Given the description of an element on the screen output the (x, y) to click on. 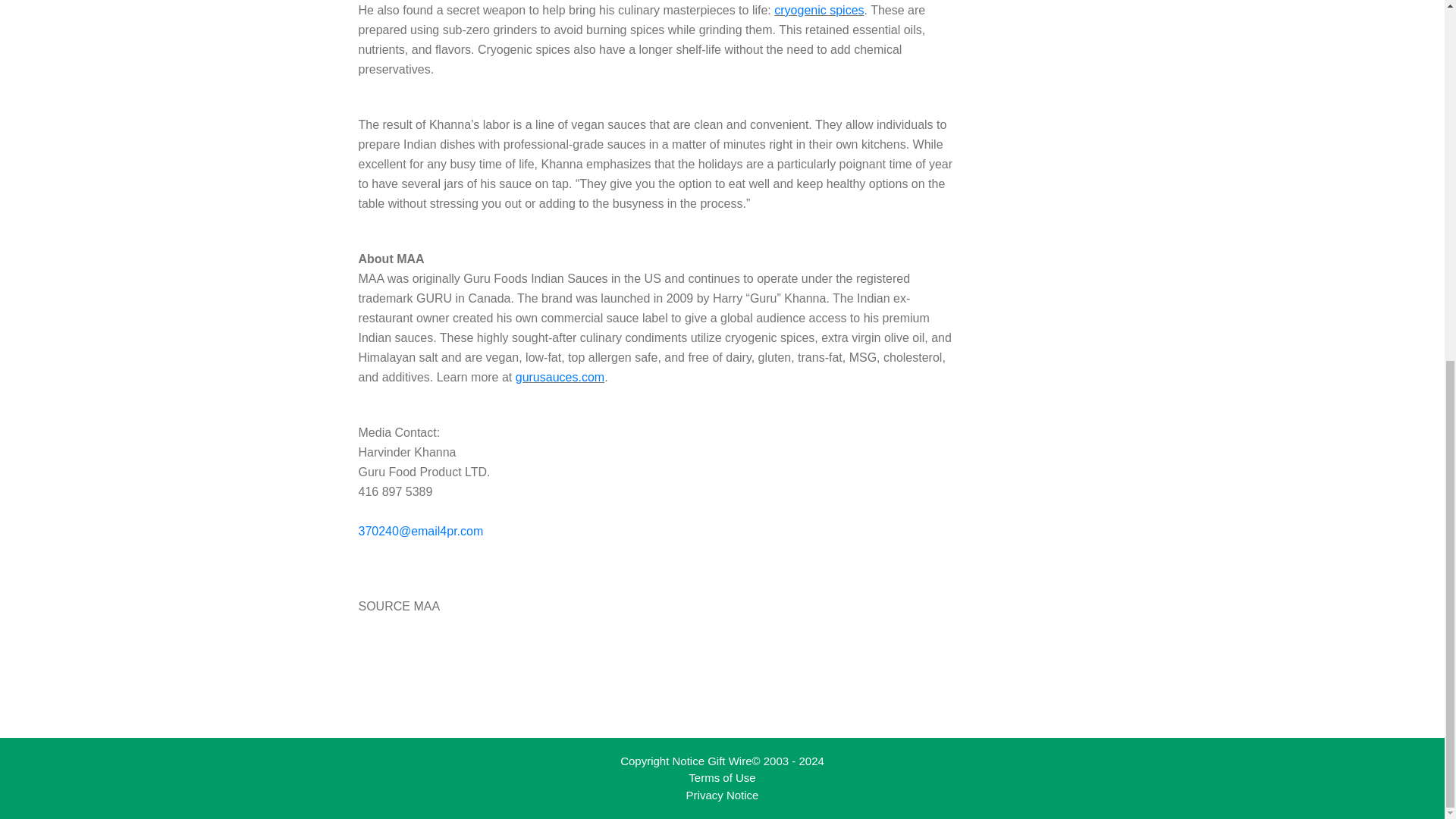
Privacy Notice (721, 794)
gurusauces.com (559, 377)
Terms of Use (721, 777)
cryogenic spices (818, 10)
